Given the description of an element on the screen output the (x, y) to click on. 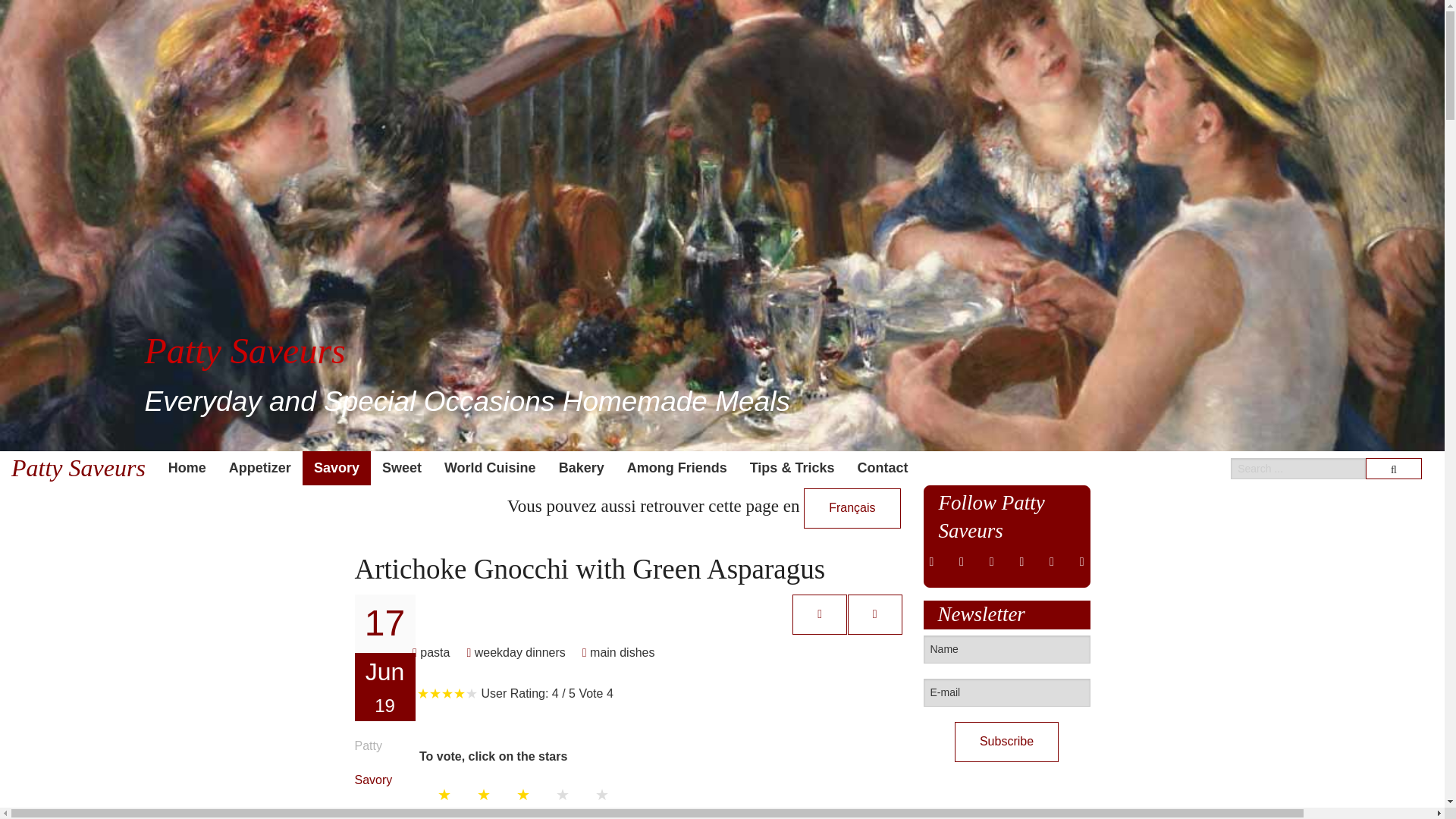
Appetizer (259, 468)
Savory (336, 468)
Contact (881, 468)
Subscribe (1006, 741)
weekday dinners (515, 652)
World Cuisine (489, 468)
Rate (448, 813)
E-mail (1006, 692)
Patty Saveurs (78, 468)
Bakery (581, 468)
Rate (448, 813)
Name (1006, 649)
Home (186, 468)
pasta (430, 652)
Savory (374, 779)
